Given the description of an element on the screen output the (x, y) to click on. 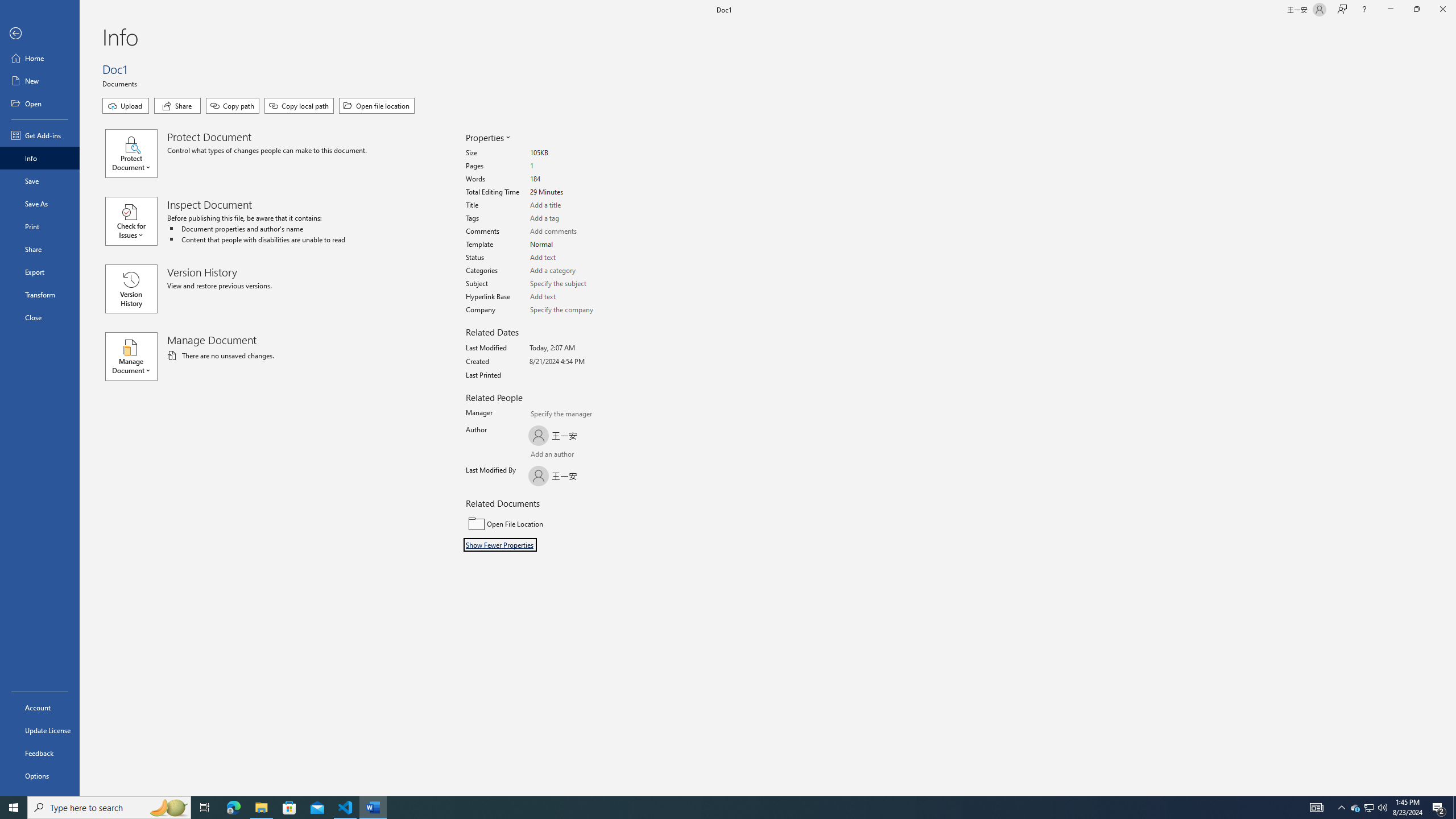
Specify the manager (540, 414)
Print (40, 225)
Share (177, 105)
Feedback (40, 753)
Words (572, 179)
Template (572, 244)
Open file location (376, 105)
Subject (572, 283)
Transform (40, 294)
Check for Issues (135, 220)
Total Editing Time (572, 192)
New (40, 80)
Export (40, 271)
